Given the description of an element on the screen output the (x, y) to click on. 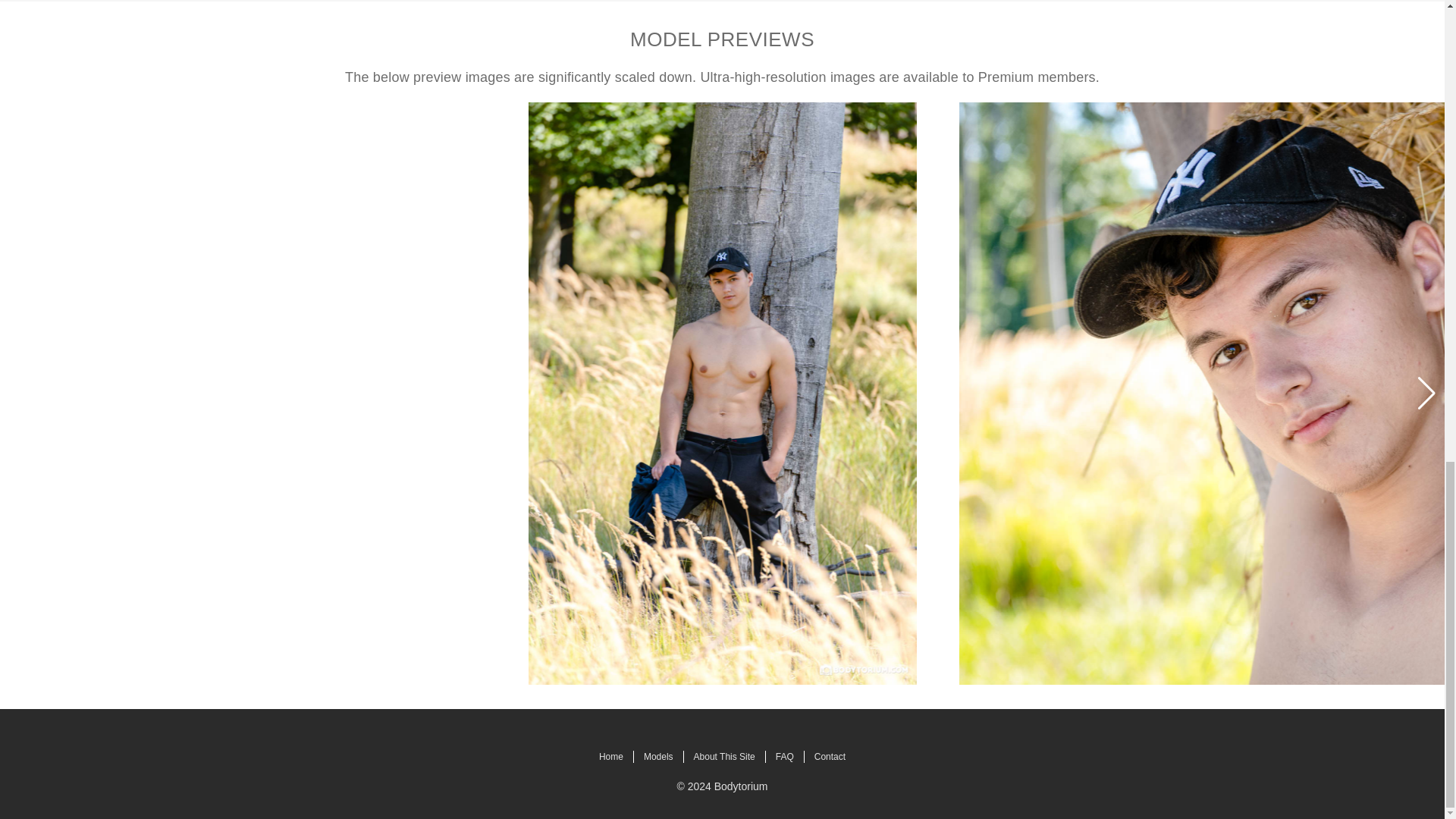
Models (657, 756)
Home (611, 756)
About This Site (724, 756)
FAQ (784, 756)
Contact (830, 756)
